Given the description of an element on the screen output the (x, y) to click on. 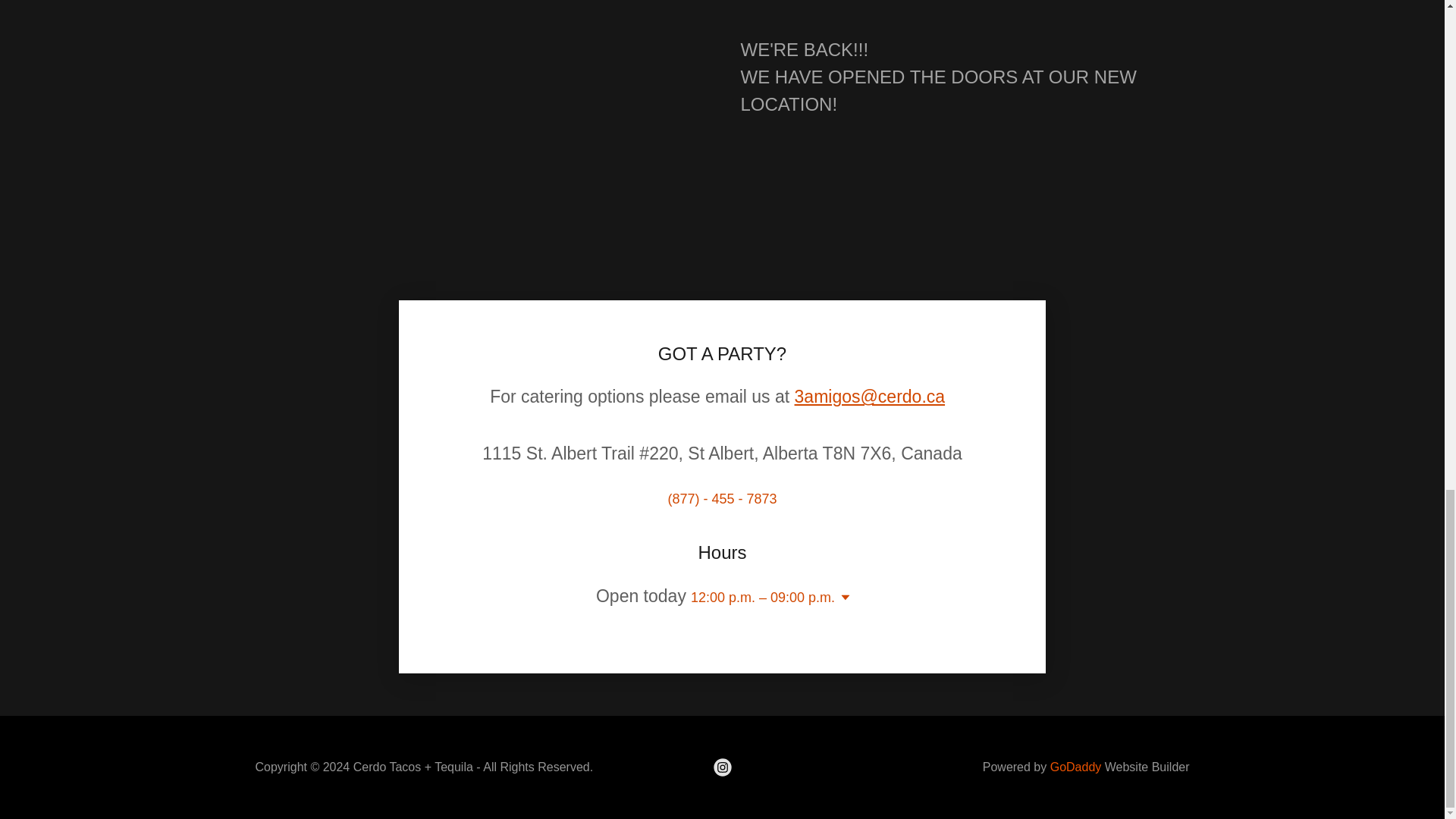
GoDaddy (1075, 766)
